Given the description of an element on the screen output the (x, y) to click on. 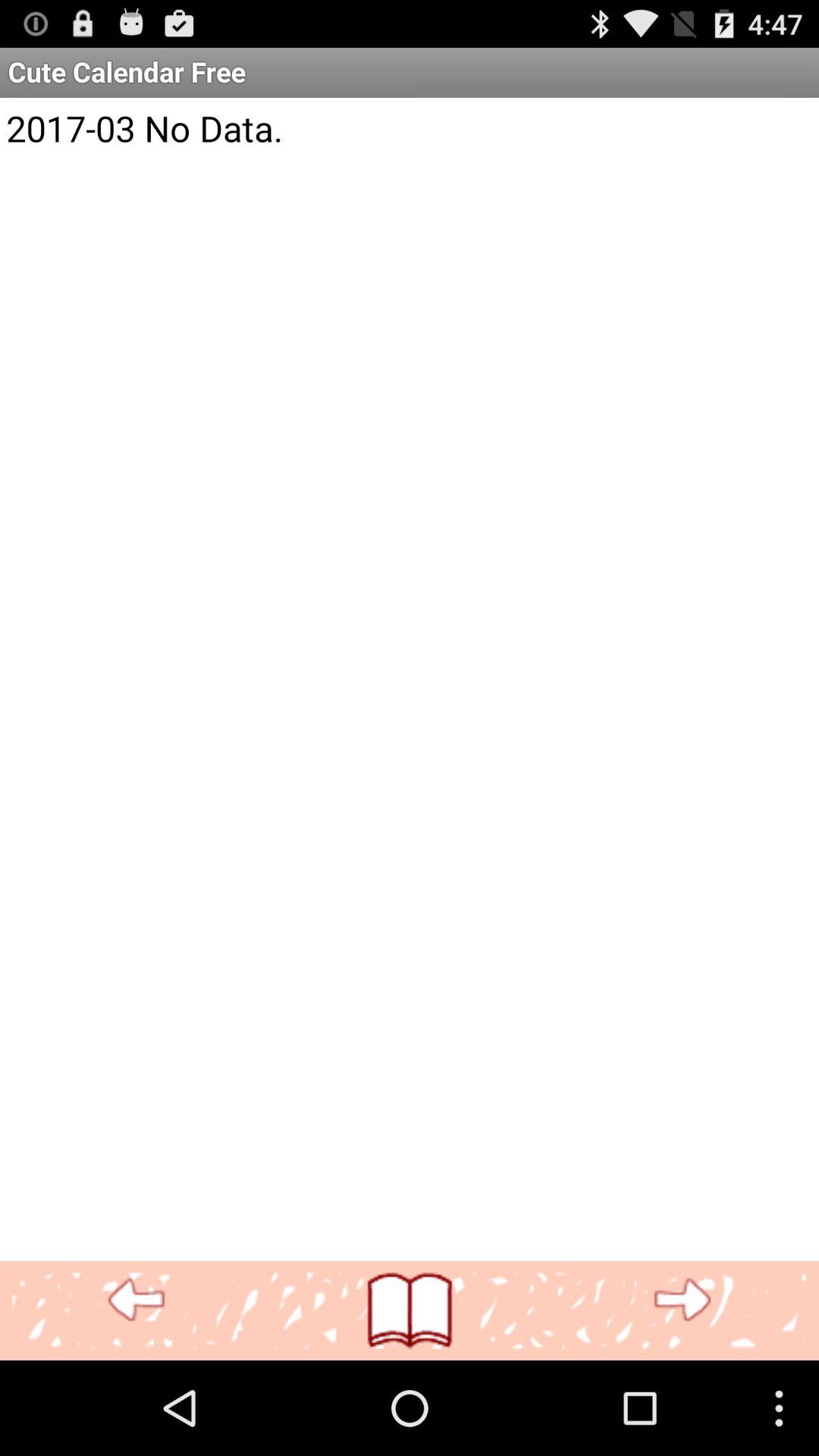
turn on icon at the bottom right corner (682, 1300)
